Given the description of an element on the screen output the (x, y) to click on. 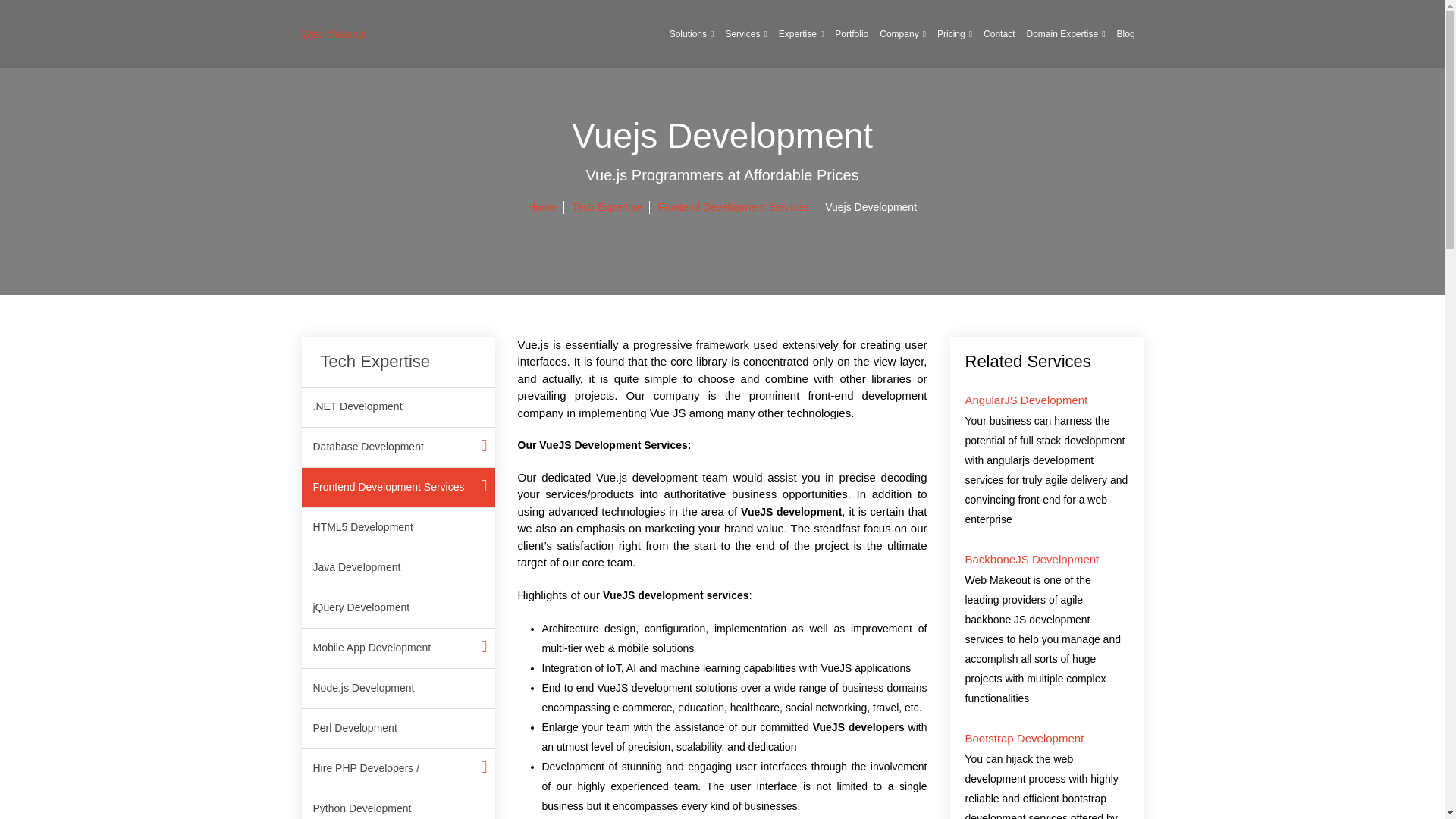
Go to Home Page (541, 206)
Solutions (691, 33)
Services (745, 33)
